Given the description of an element on the screen output the (x, y) to click on. 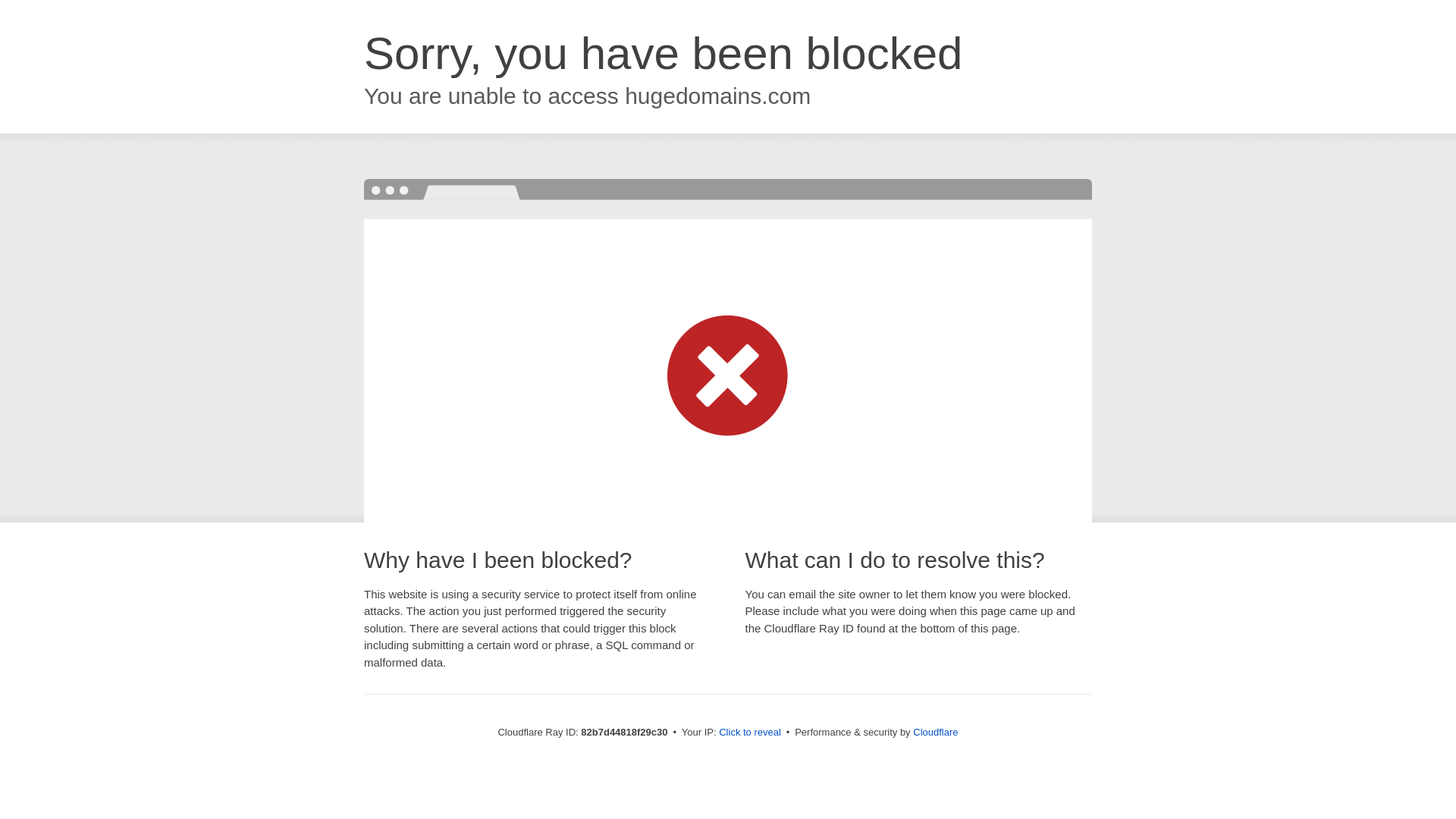
Cloudflare Element type: text (935, 731)
Click to reveal Element type: text (749, 732)
